Given the description of an element on the screen output the (x, y) to click on. 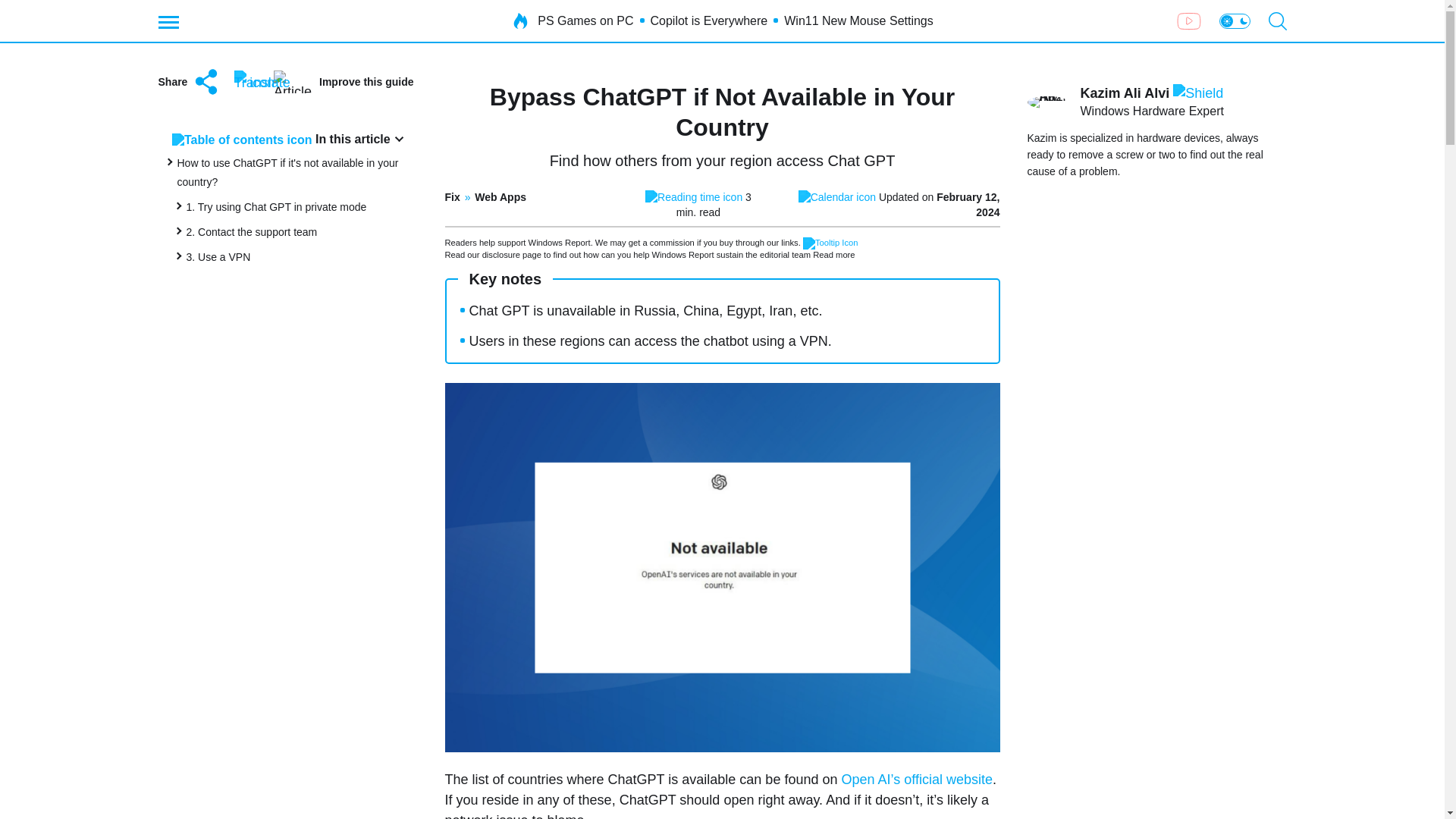
PS Games on PC (585, 21)
3. Use a VPN (218, 256)
Share (189, 81)
Share this article (189, 81)
2. Contact the support team (251, 232)
Copilot is Everywhere (709, 21)
Win11 New Mouse Settings (858, 21)
Open search bar (1276, 21)
How to use ChatGPT if it's not available in your country? (287, 172)
1. Try using Chat GPT in private mode (276, 206)
